Given the description of an element on the screen output the (x, y) to click on. 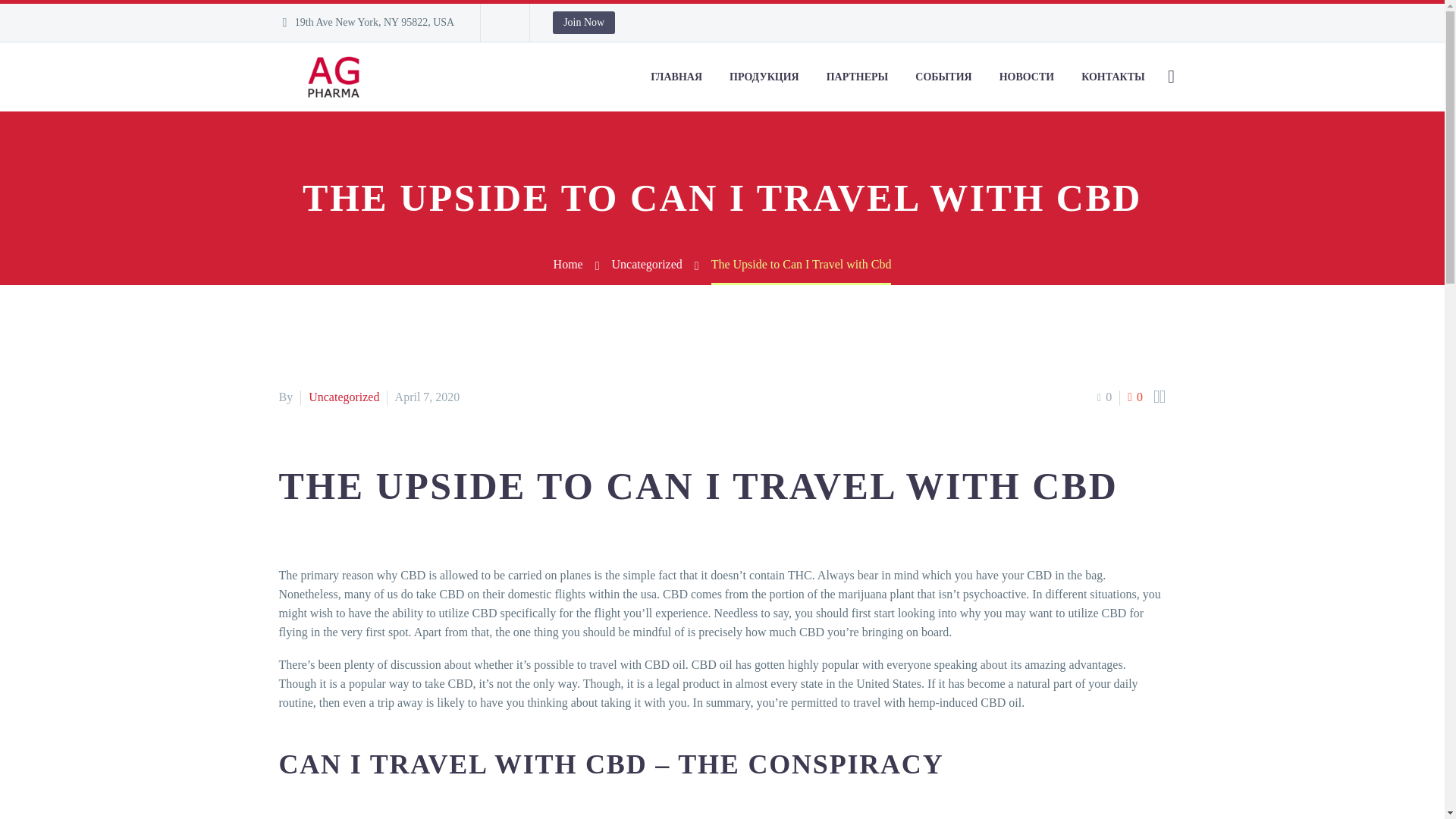
Home (568, 264)
Join Now (583, 22)
View all posts in Uncategorized (343, 396)
Uncategorized (343, 396)
Uncategorized (646, 264)
0 (1104, 396)
